Given the description of an element on the screen output the (x, y) to click on. 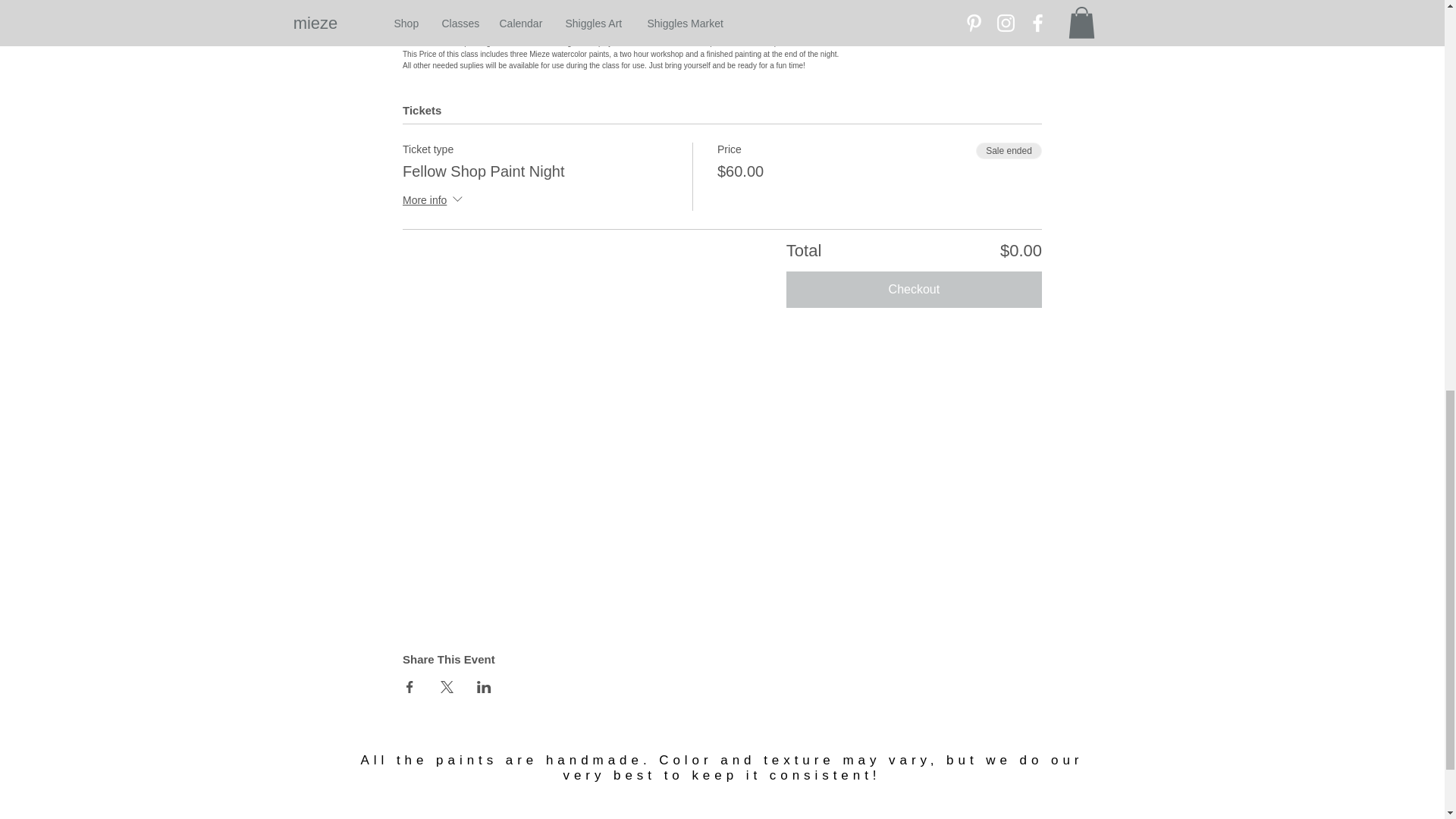
Checkout (914, 289)
More info (434, 200)
